Given the description of an element on the screen output the (x, y) to click on. 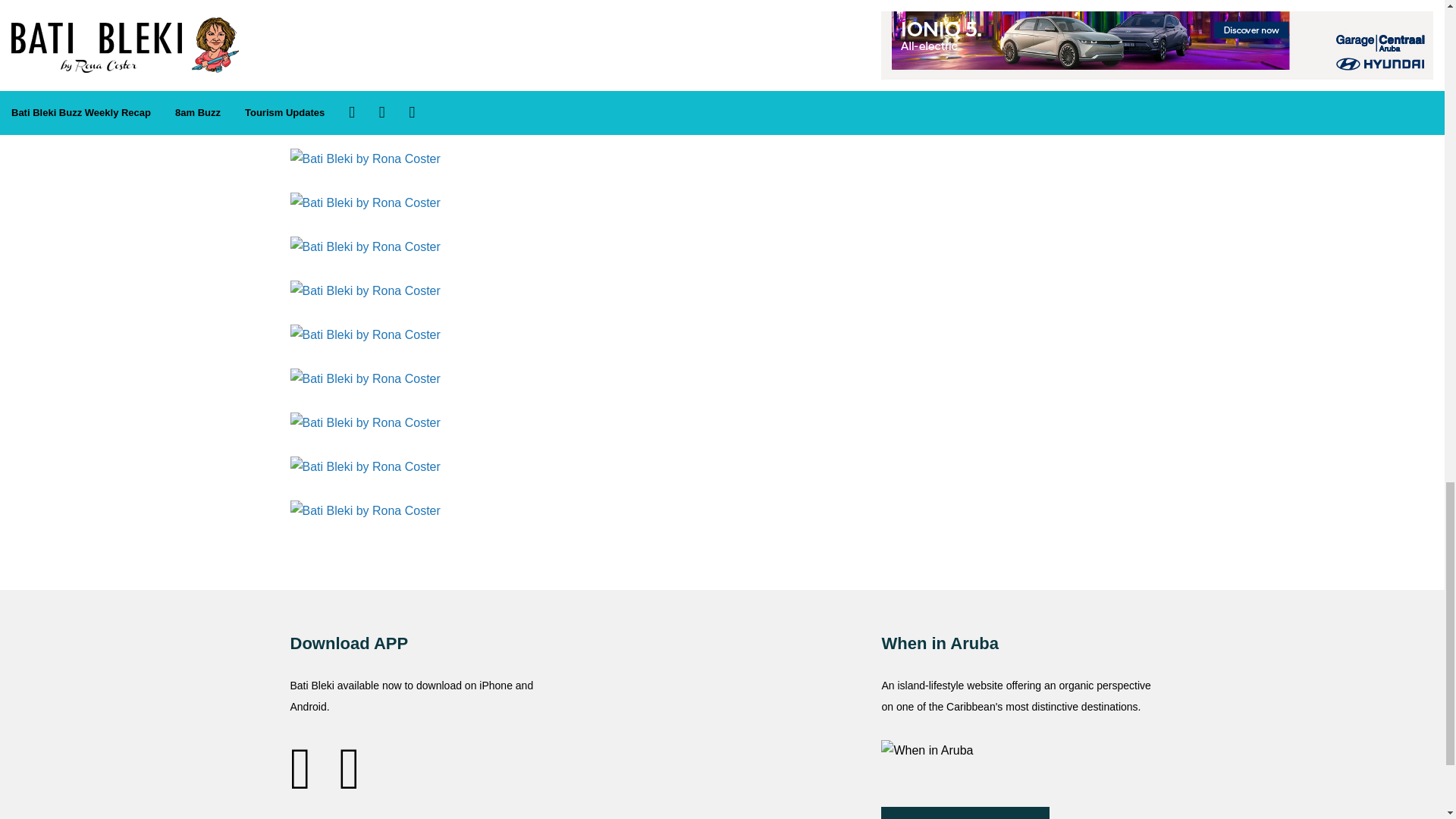
Previous (328, 36)
FREEDOM OF SPEECH AND THE BAN ON SPEAKING (722, 7)
SOME GOOD NEWS IN HEALTH CARE (425, 7)
Next (721, 36)
